Given the description of an element on the screen output the (x, y) to click on. 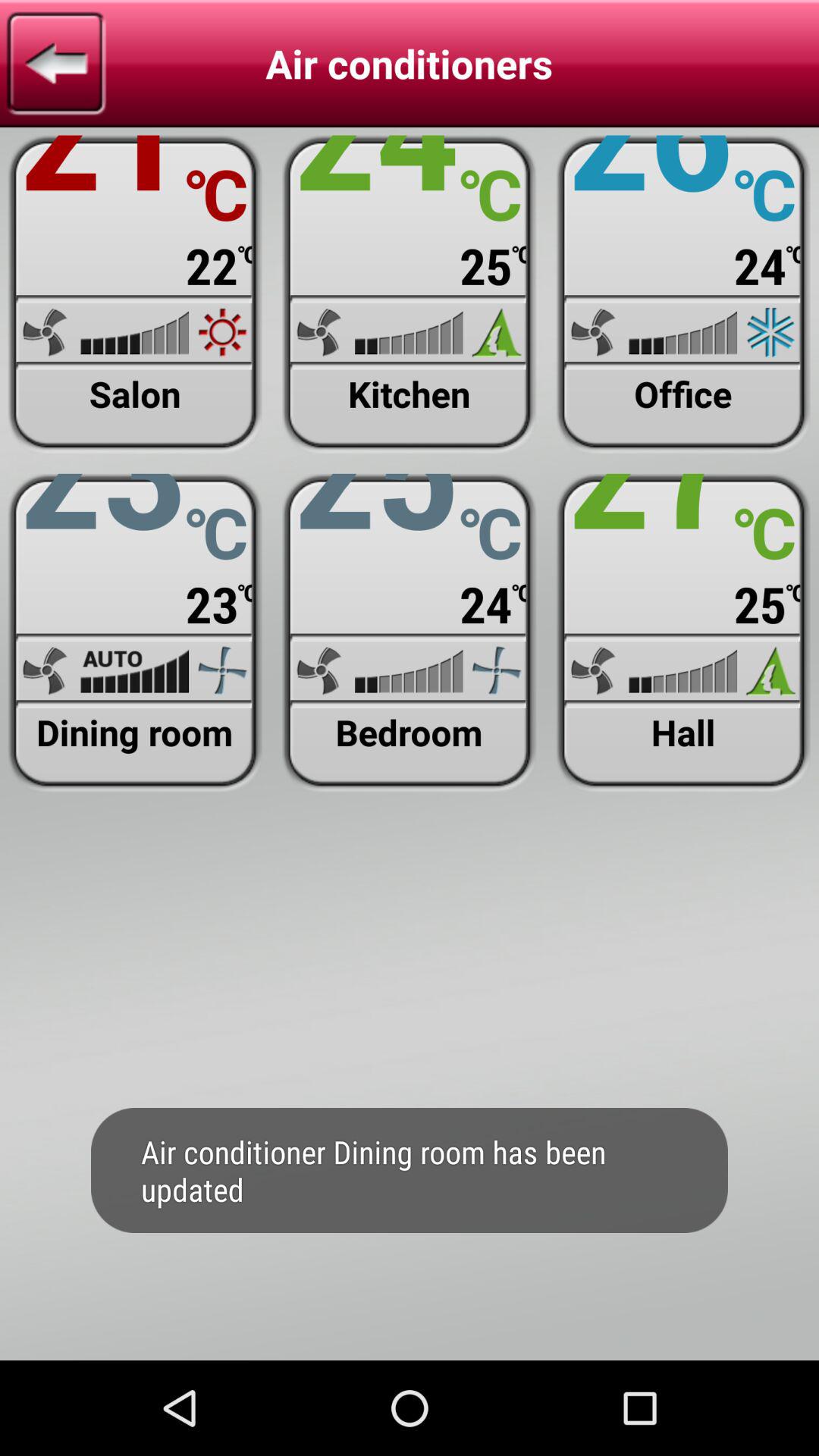
air conditioners (409, 632)
